Given the description of an element on the screen output the (x, y) to click on. 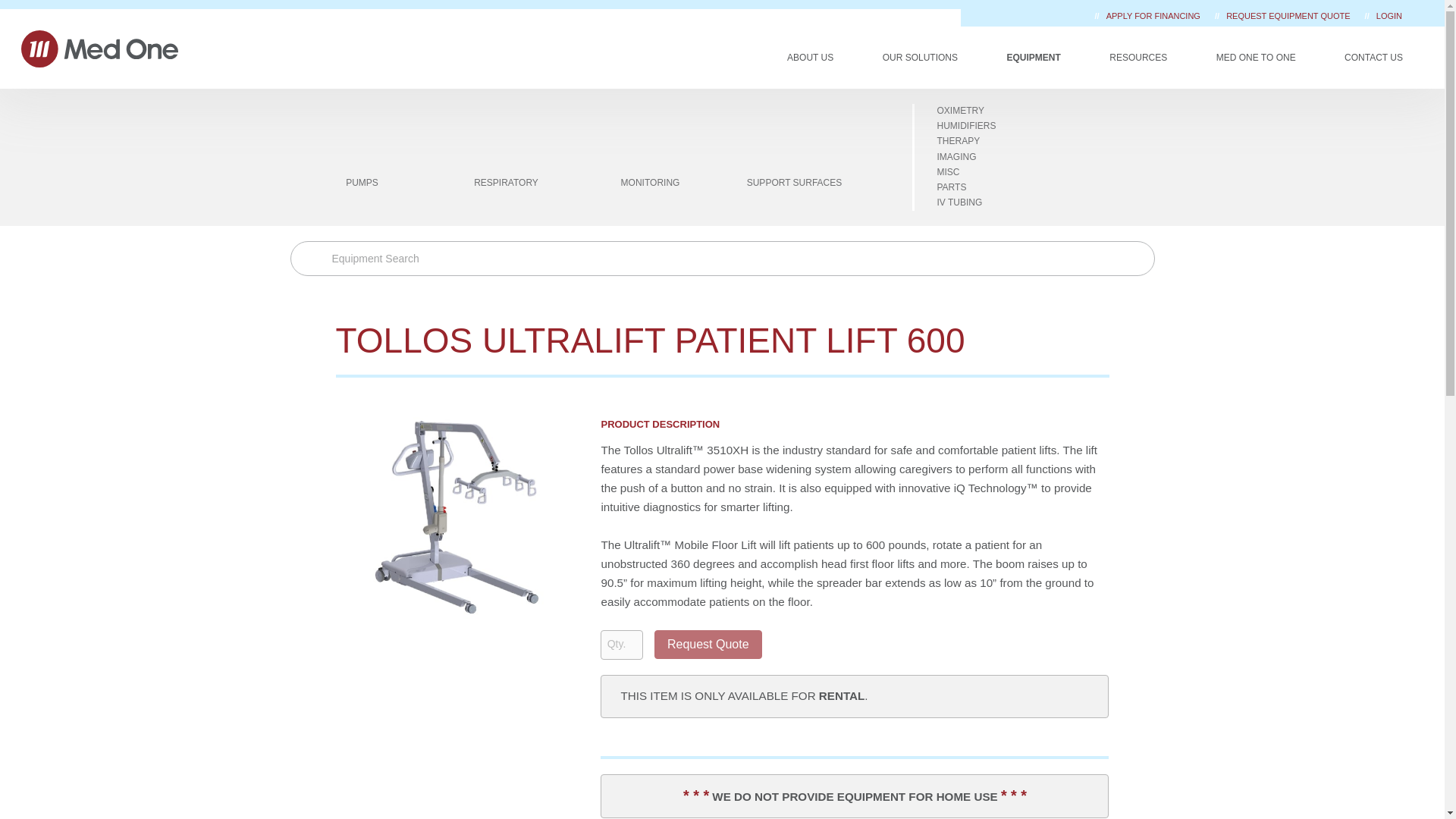
LOGIN (1388, 15)
REQUEST EQUIPMENT QUOTE (1288, 15)
APPLY FOR FINANCING (1154, 15)
